Given the description of an element on the screen output the (x, y) to click on. 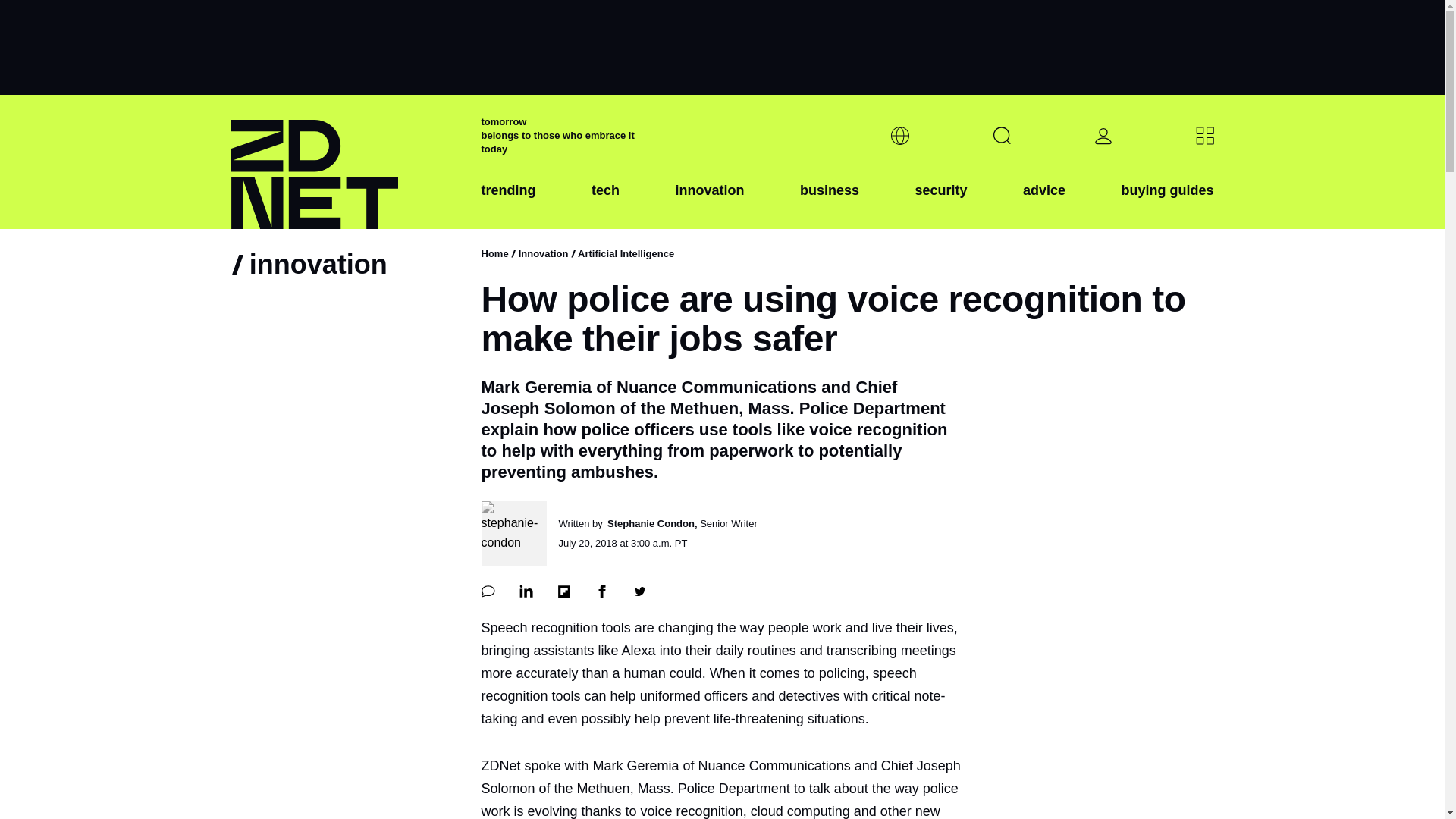
ZDNET (346, 162)
trending (507, 202)
